Given the description of an element on the screen output the (x, y) to click on. 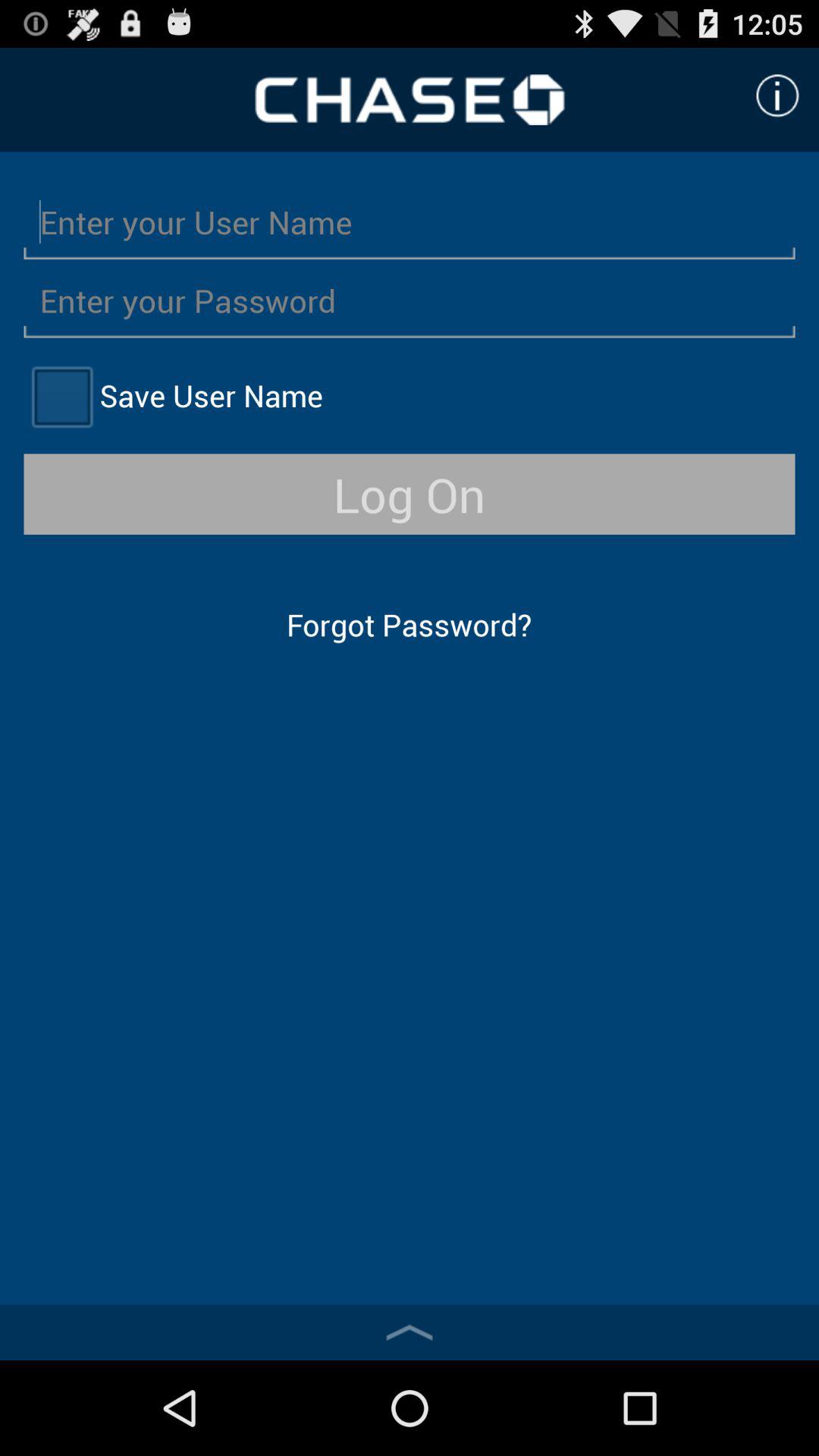
turn on the item below forgot password? icon (409, 1332)
